Given the description of an element on the screen output the (x, y) to click on. 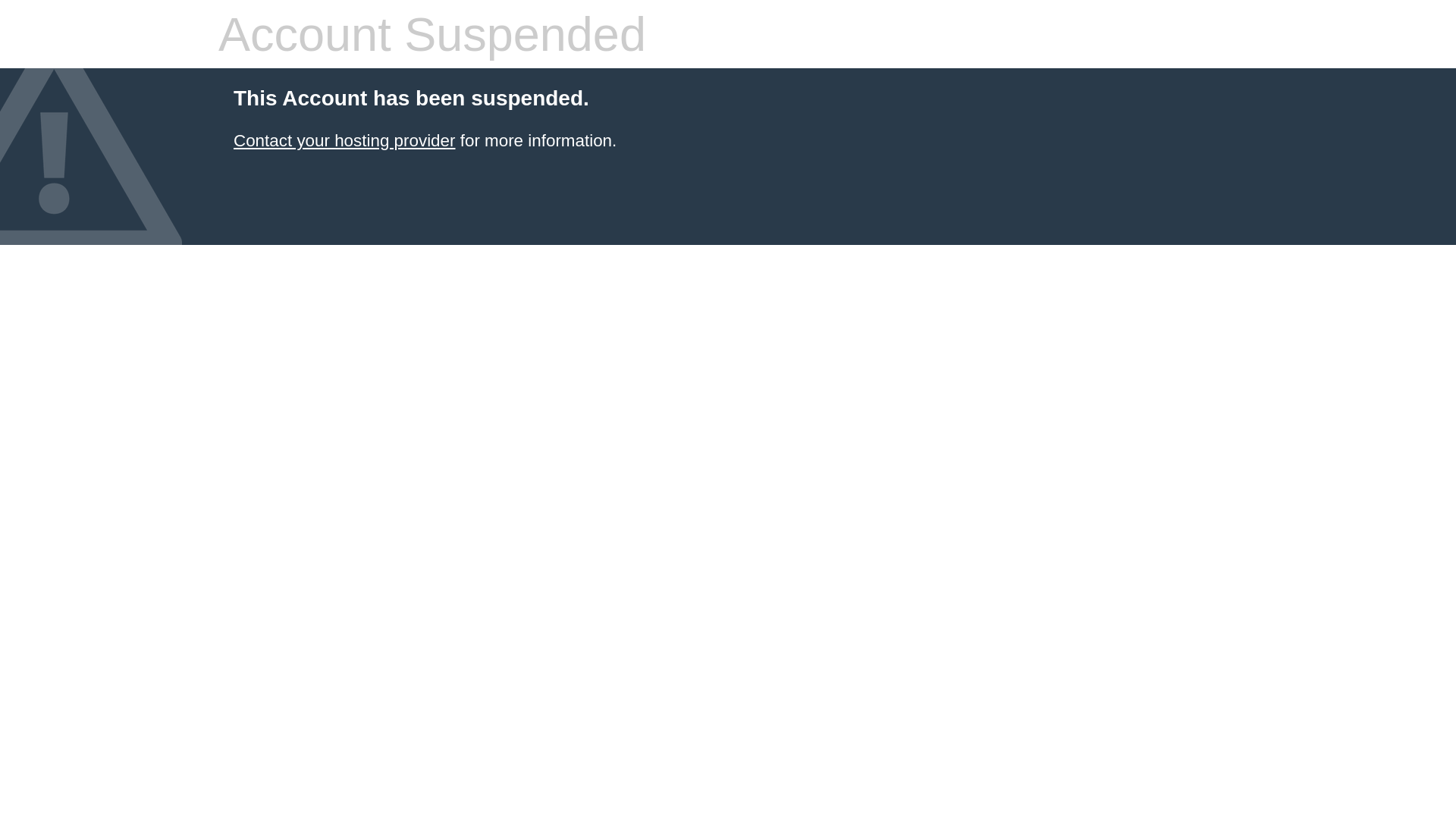
Contact your hosting provider Element type: text (344, 140)
